Given the description of an element on the screen output the (x, y) to click on. 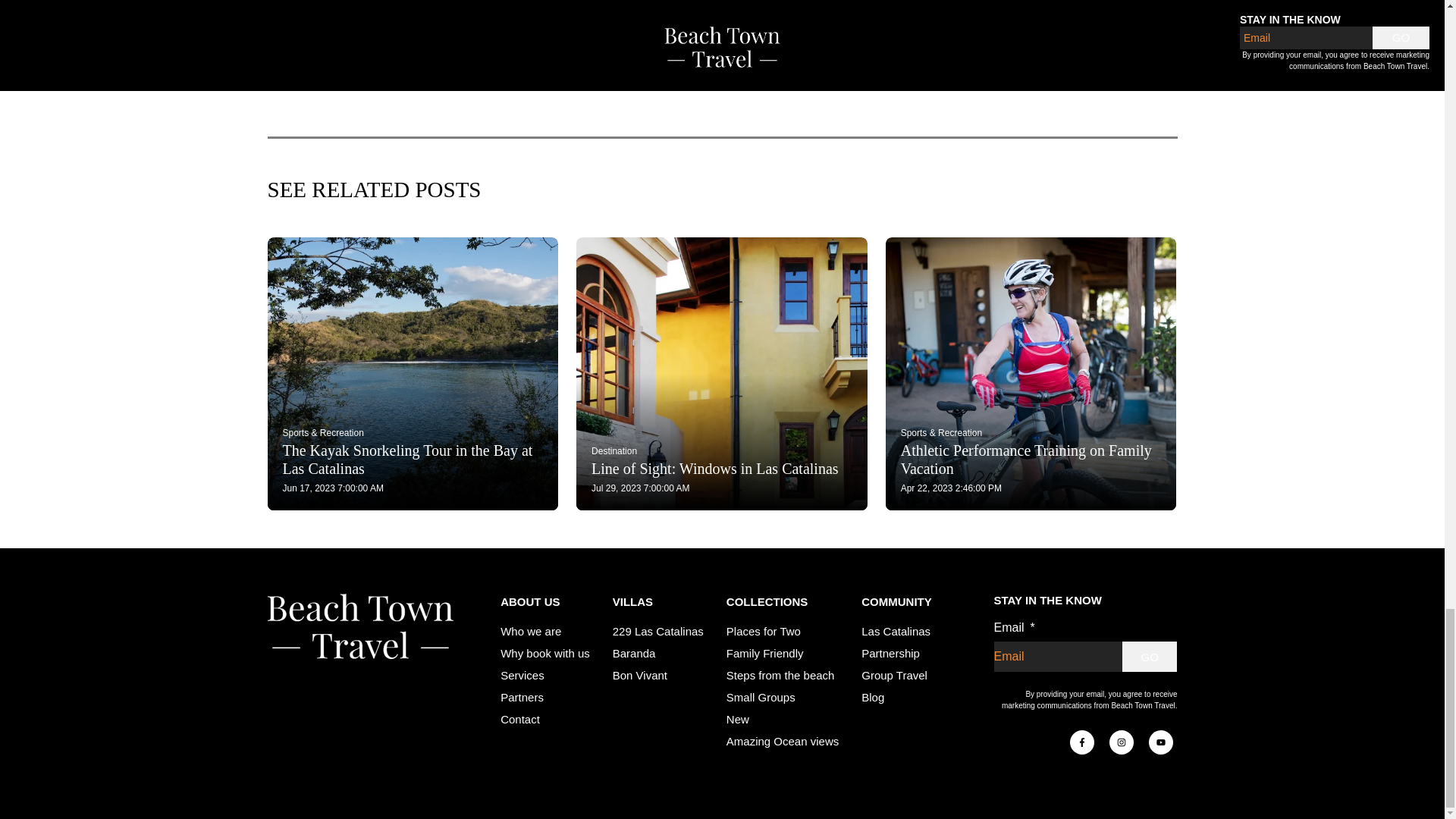
New (737, 718)
Amazing Ocean views (782, 740)
Contact (520, 718)
229 Las Catalinas (657, 631)
logo (359, 626)
GO (1149, 656)
Services (522, 675)
Small Groups (760, 697)
Places for Two (763, 631)
ABOUT US (544, 601)
COMMUNITY (896, 601)
Line of Sight: Windows in Las Catalinas (721, 468)
VILLAS (657, 601)
Why book with us (544, 653)
Baranda (634, 653)
